Given the description of an element on the screen output the (x, y) to click on. 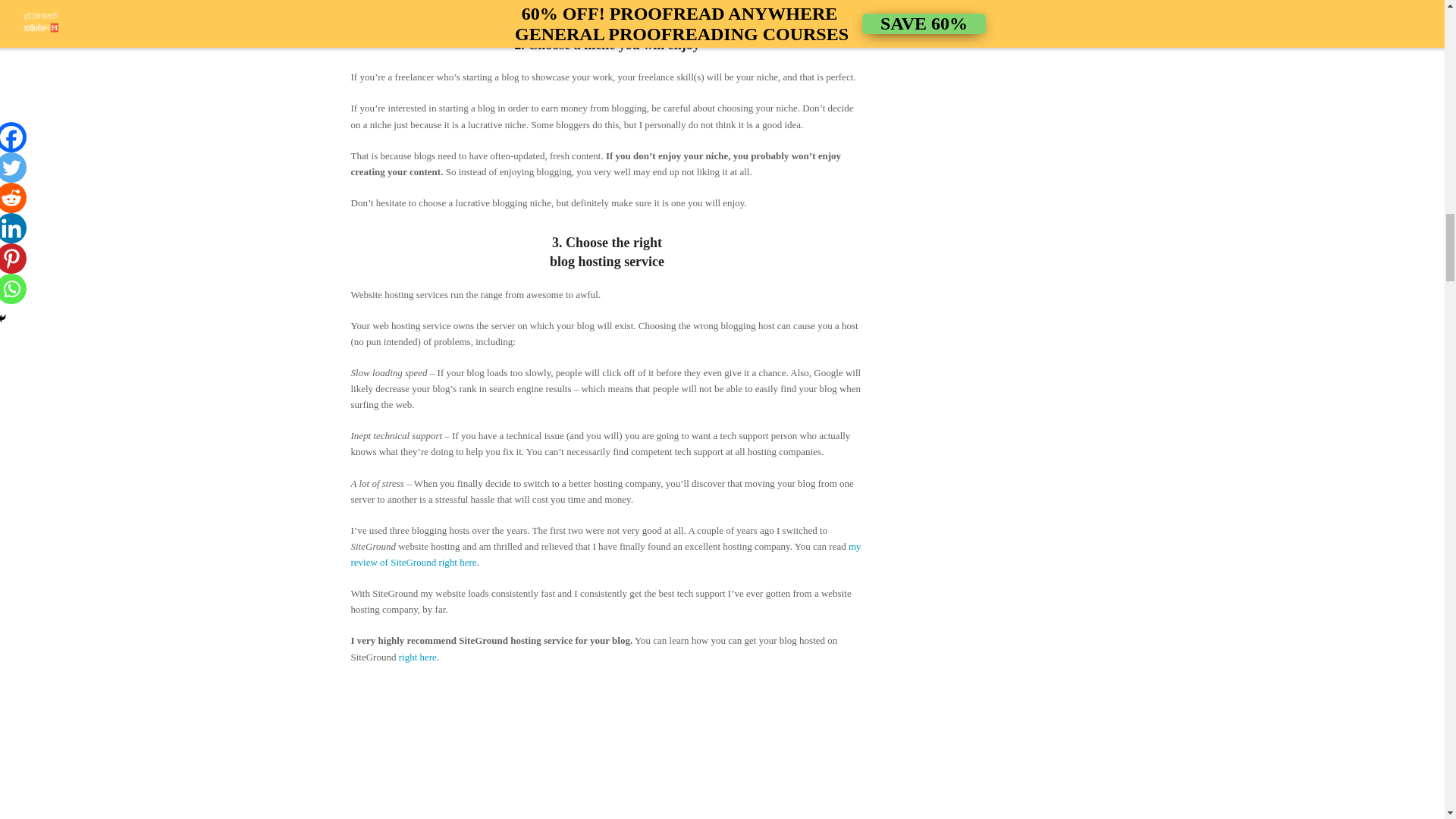
SiteGround blogging host (606, 749)
